Given the description of an element on the screen output the (x, y) to click on. 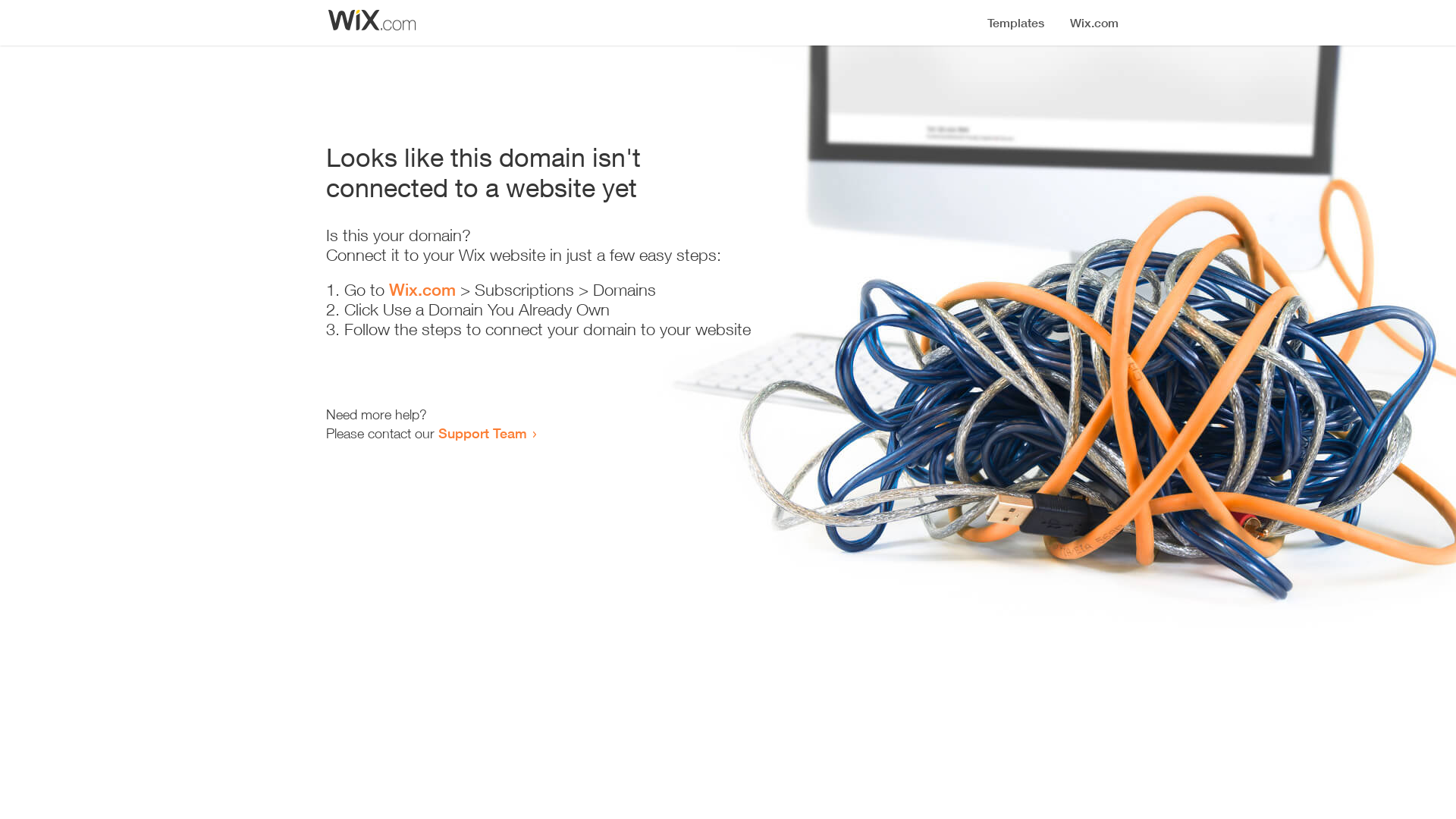
Wix.com Element type: text (422, 289)
Support Team Element type: text (482, 432)
